Given the description of an element on the screen output the (x, y) to click on. 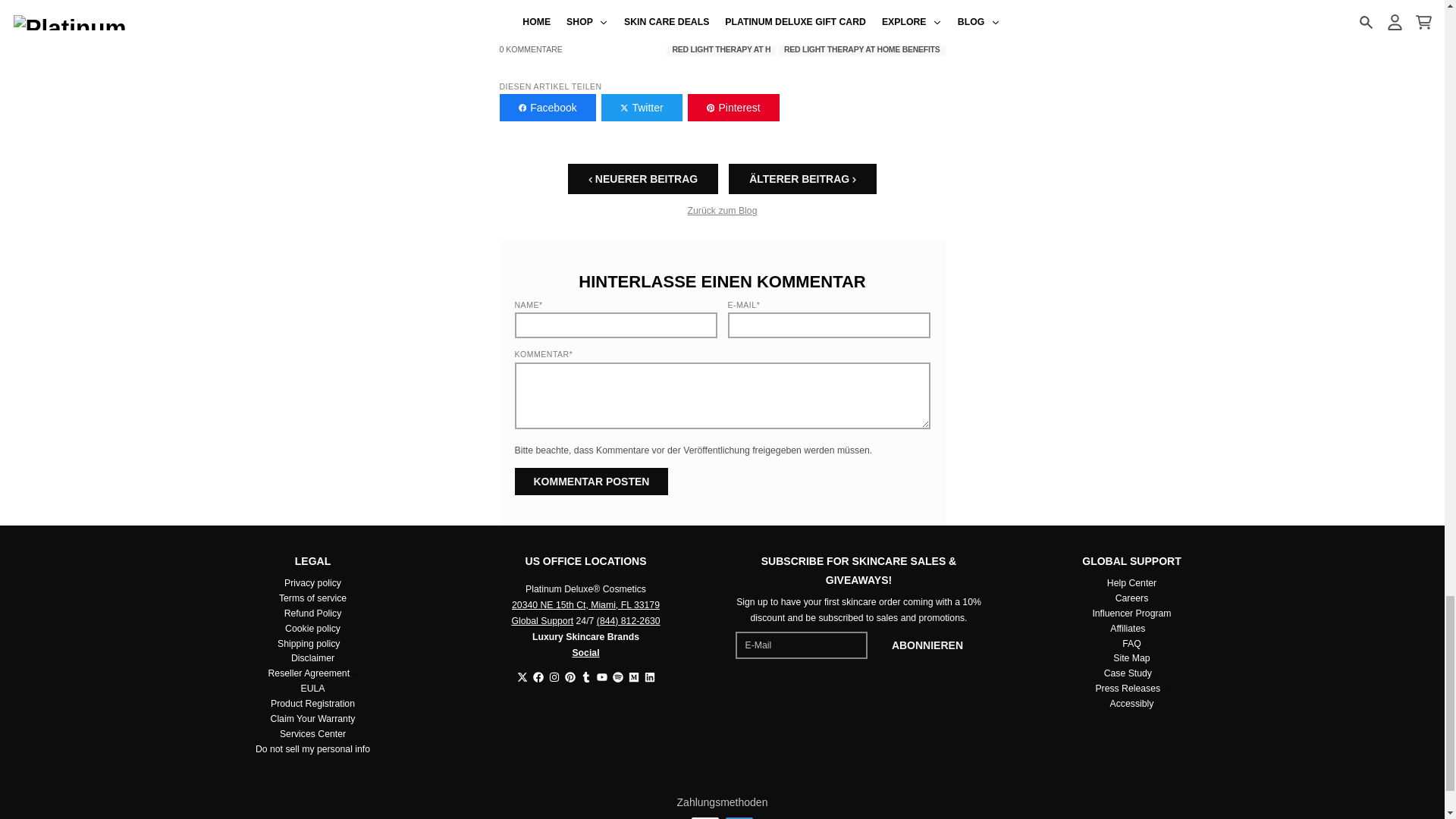
Medium - Platinum Deluxe Cosmetics (633, 676)
Twitter - Platinum Deluxe Cosmetics (521, 676)
Instagram - Platinum Deluxe Cosmetics (553, 676)
Kommentar posten (590, 481)
Spotify - Platinum Deluxe Cosmetics (617, 676)
YouTube - Platinum Deluxe Cosmetics (601, 676)
Facebook - Platinum Deluxe Cosmetics (537, 676)
Tumblr - Platinum Deluxe Cosmetics (585, 676)
Pinterest - Platinum Deluxe Cosmetics (569, 676)
LinkedIn - Platinum Deluxe Cosmetics (650, 676)
